Given the description of an element on the screen output the (x, y) to click on. 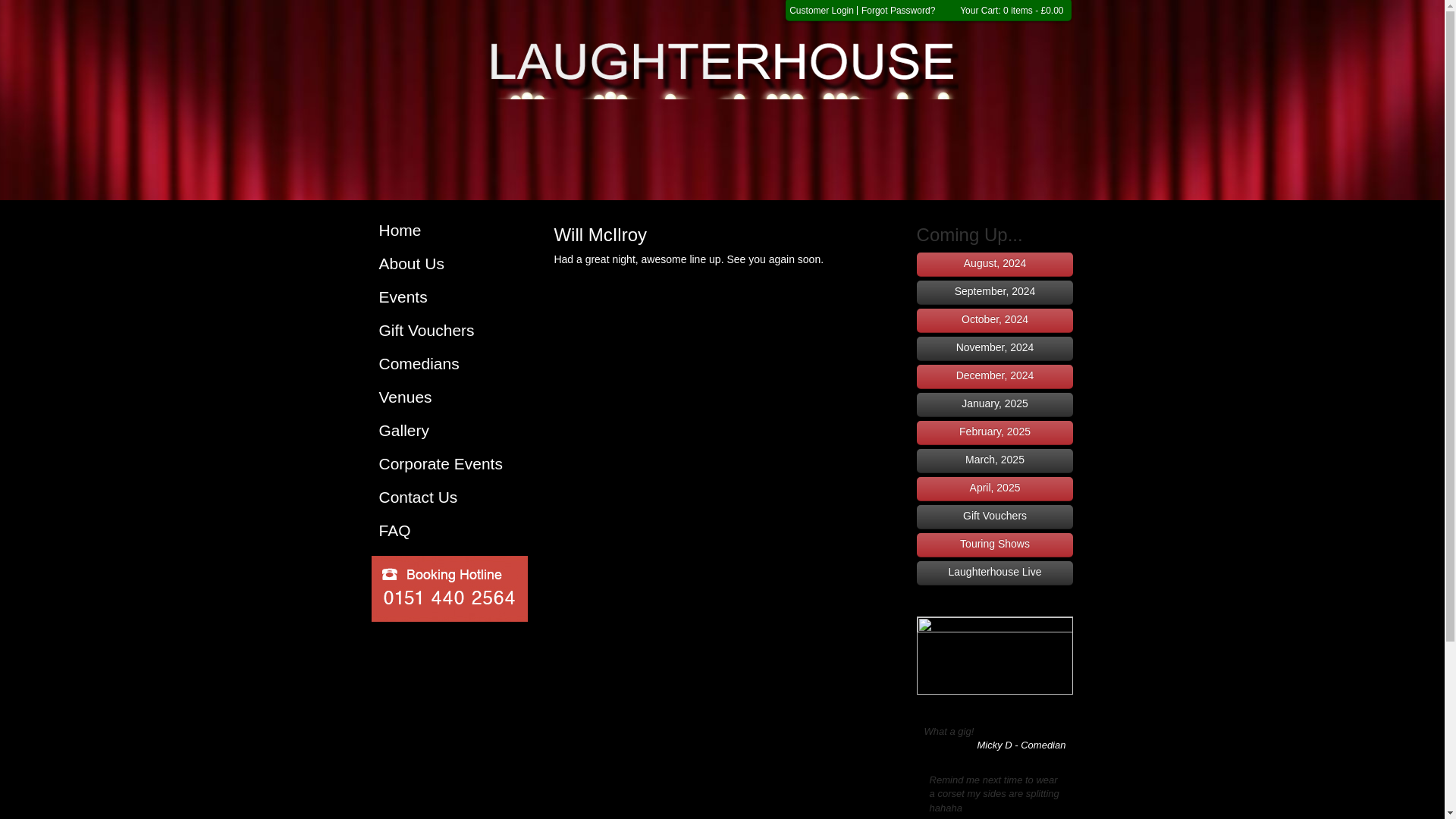
Gift Vouchers (995, 517)
View your cart. (1010, 9)
Events (449, 297)
Laughterhouse Comedy, Liverpool's Premier Comedy Club! (449, 230)
October, 2024 (995, 320)
Home (449, 230)
March, 2025 (995, 460)
Gift Vouchers (449, 330)
Browse Comedians Performing At Laughterhouse (449, 363)
